Given the description of an element on the screen output the (x, y) to click on. 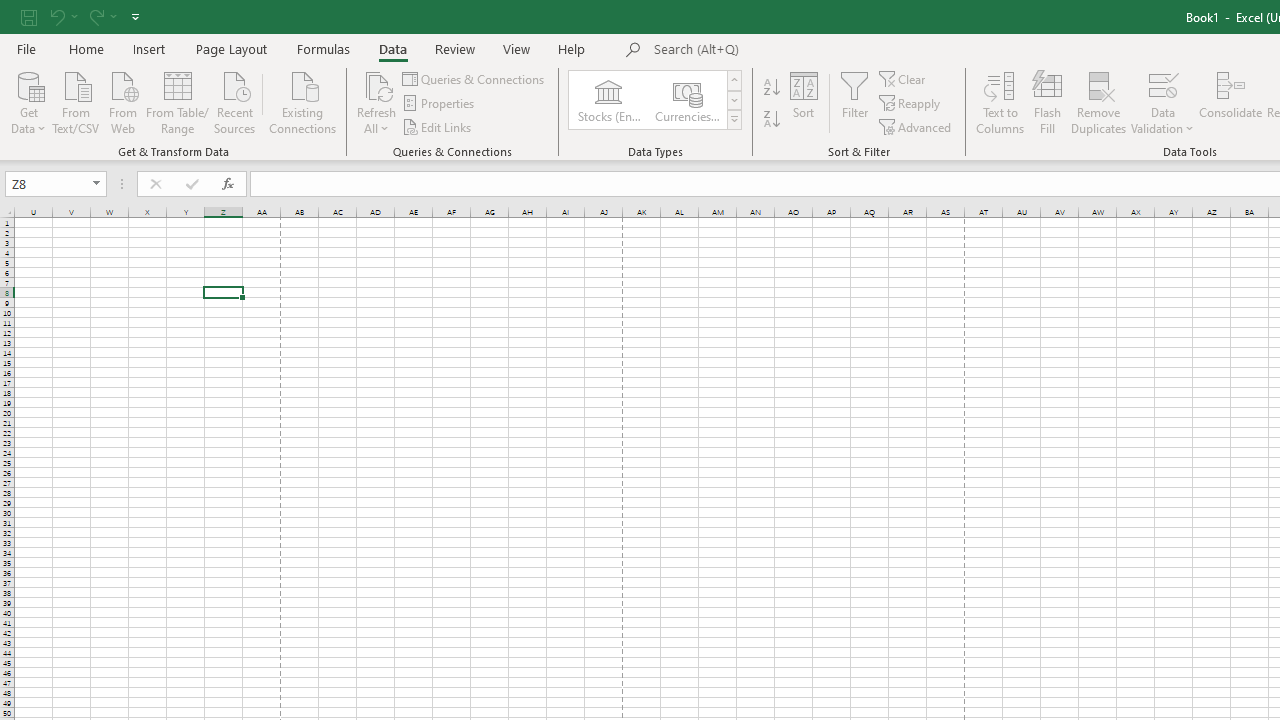
Refresh All (376, 102)
Redo (95, 15)
Microsoft search (792, 49)
Review (454, 48)
Clear (903, 78)
View (517, 48)
From Web (122, 101)
Insert (149, 48)
Sort... (804, 102)
Remove Duplicates (1098, 102)
